Given the description of an element on the screen output the (x, y) to click on. 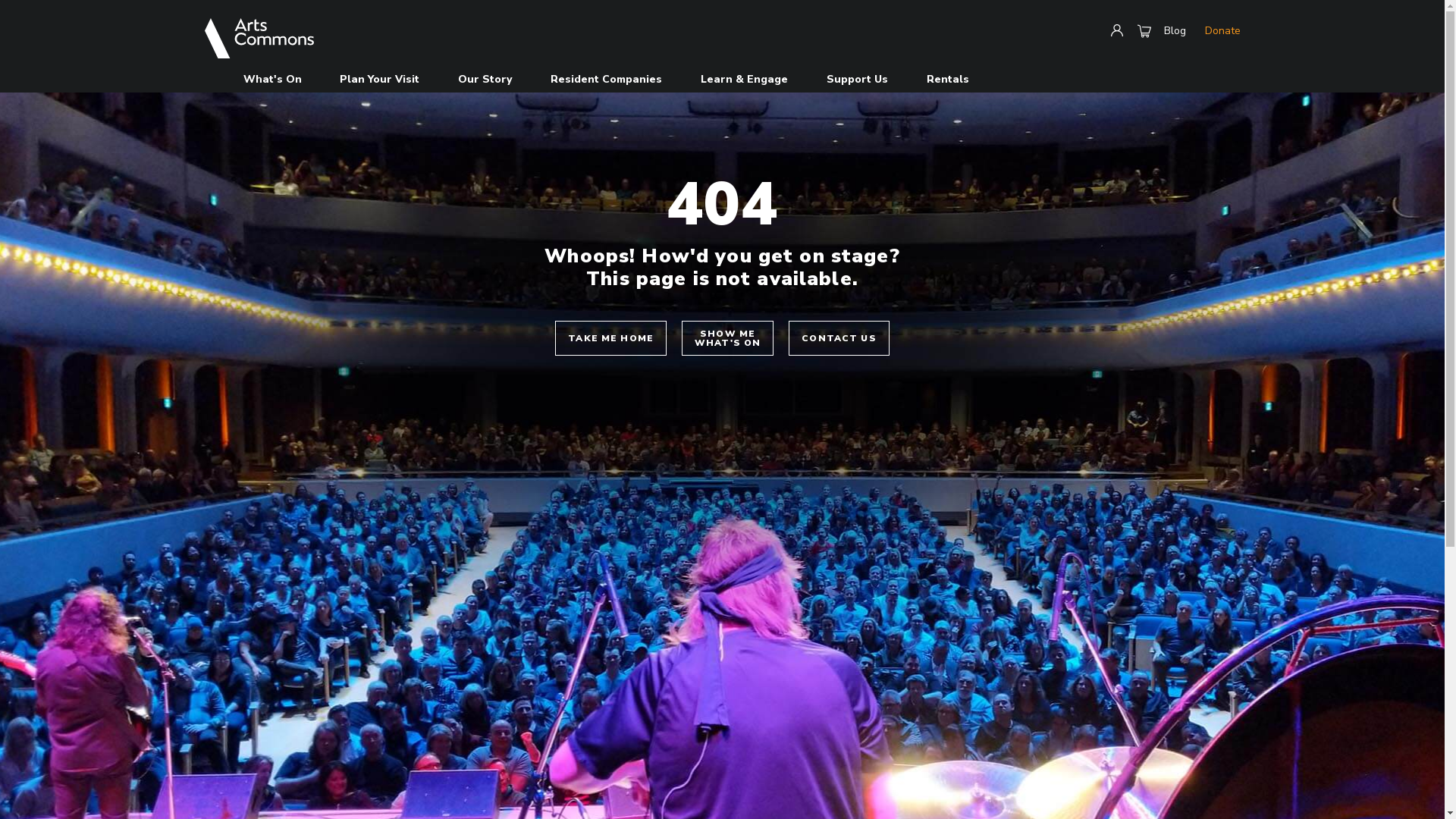
Resident Companies Element type: text (606, 78)
What's On Element type: text (272, 78)
Our Story Element type: text (484, 78)
CONTACT US Element type: text (838, 337)
Rentals Element type: text (947, 78)
TAKE ME HOME Element type: text (610, 337)
SHOW ME
WHAT'S ON Element type: text (727, 337)
Support Us Element type: text (857, 78)
Plan Your Visit Element type: text (379, 78)
Arts Commons Element type: hover (258, 38)
Learn & Engage Element type: text (744, 78)
Blog Element type: text (1175, 30)
Donate Element type: text (1221, 30)
